Given the description of an element on the screen output the (x, y) to click on. 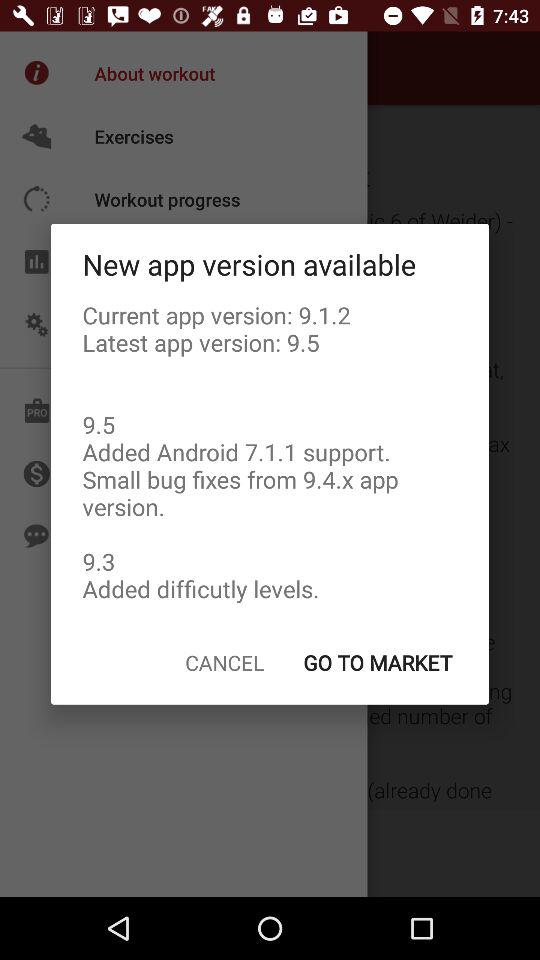
click item to the left of the go to market item (224, 662)
